Given the description of an element on the screen output the (x, y) to click on. 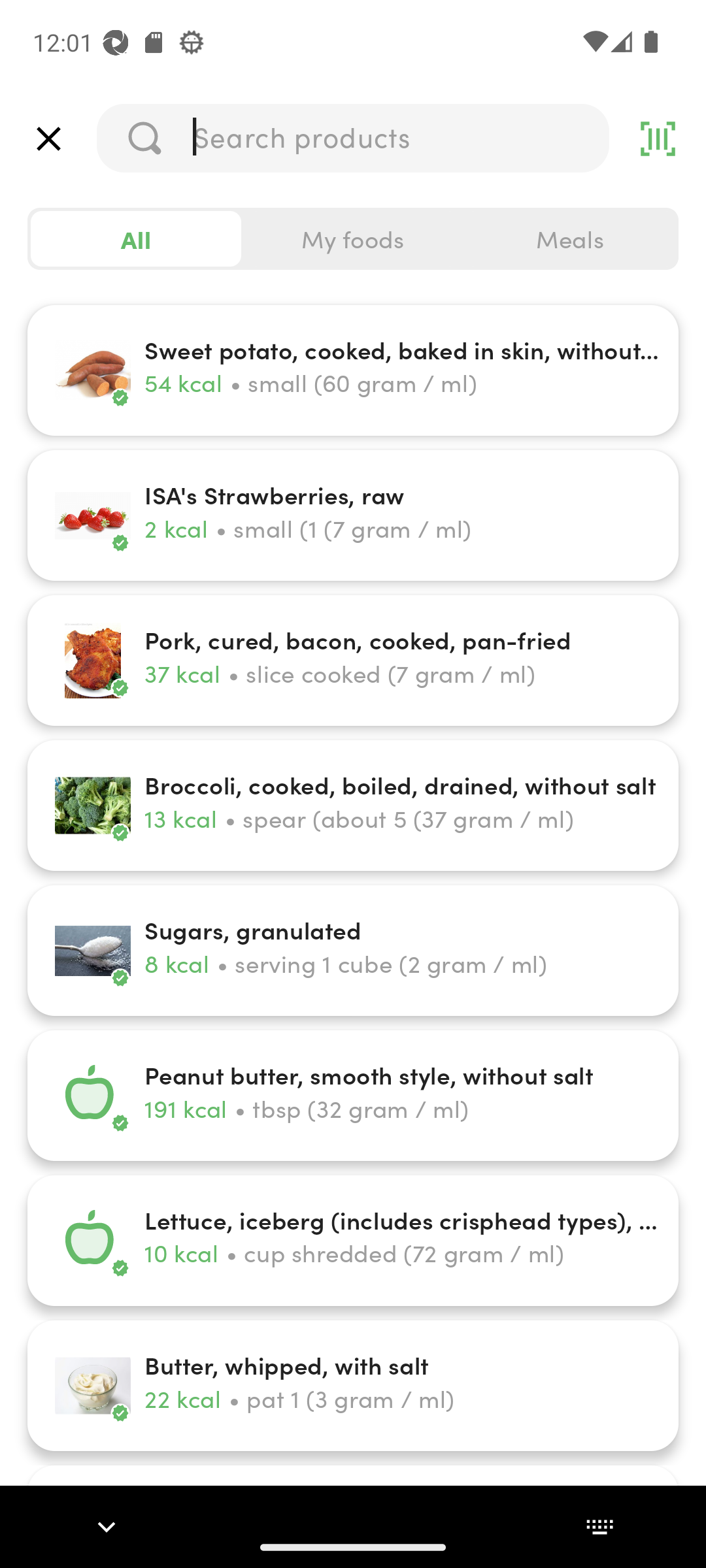
top_left_action (48, 138)
top_right_action (658, 138)
My foods (352, 238)
Meals (569, 238)
